Given the description of an element on the screen output the (x, y) to click on. 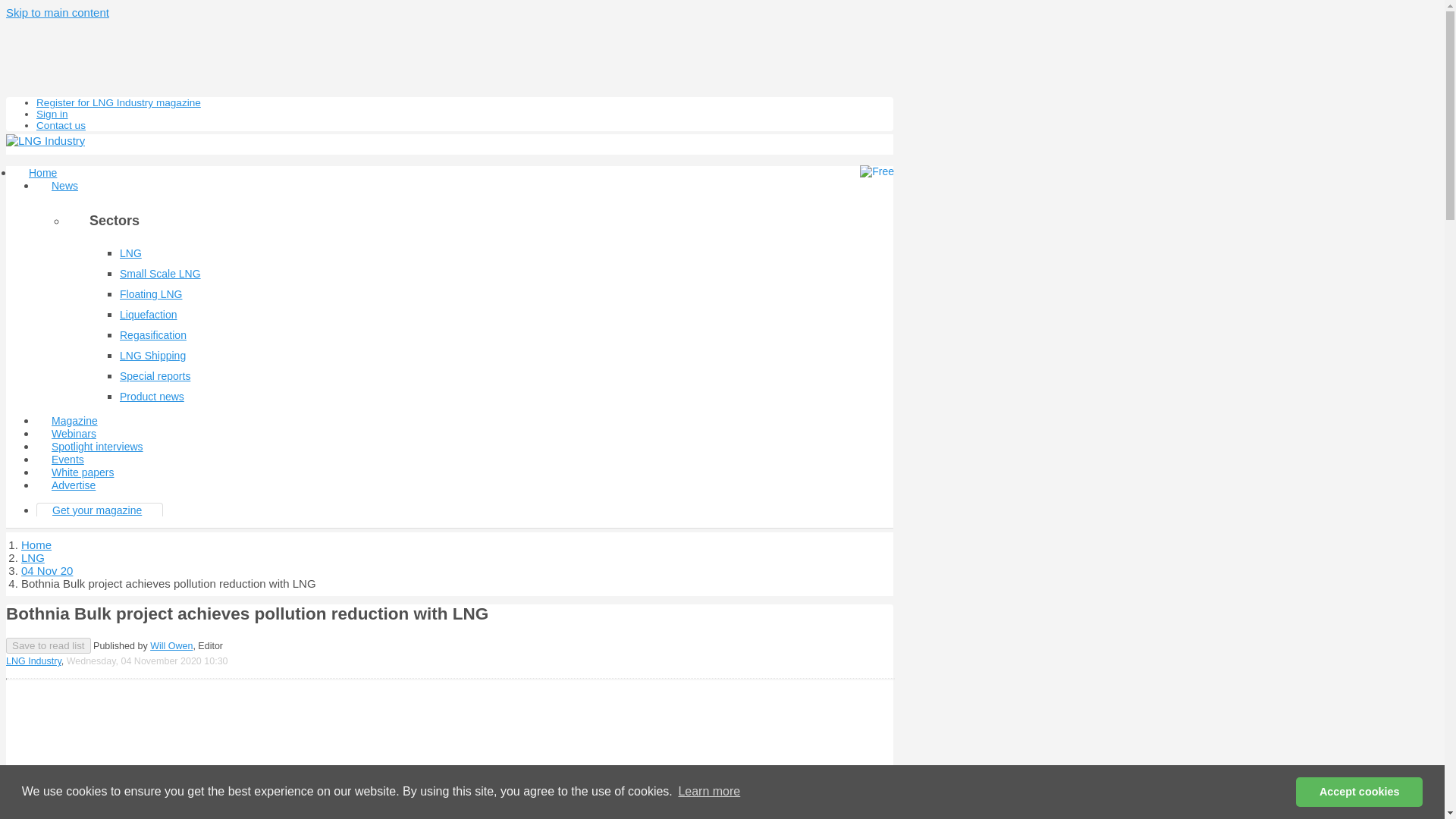
Learn more (708, 791)
Special reports (154, 376)
LNG (33, 557)
Product news (151, 396)
Home (42, 172)
Floating LNG (150, 294)
Accept cookies (1358, 791)
White papers (82, 472)
Events (67, 459)
Sign in (52, 113)
Regasification (152, 335)
Contact us (60, 125)
Will Owen (170, 645)
Skip to main content (57, 11)
Get your magazine (97, 510)
